Given the description of an element on the screen output the (x, y) to click on. 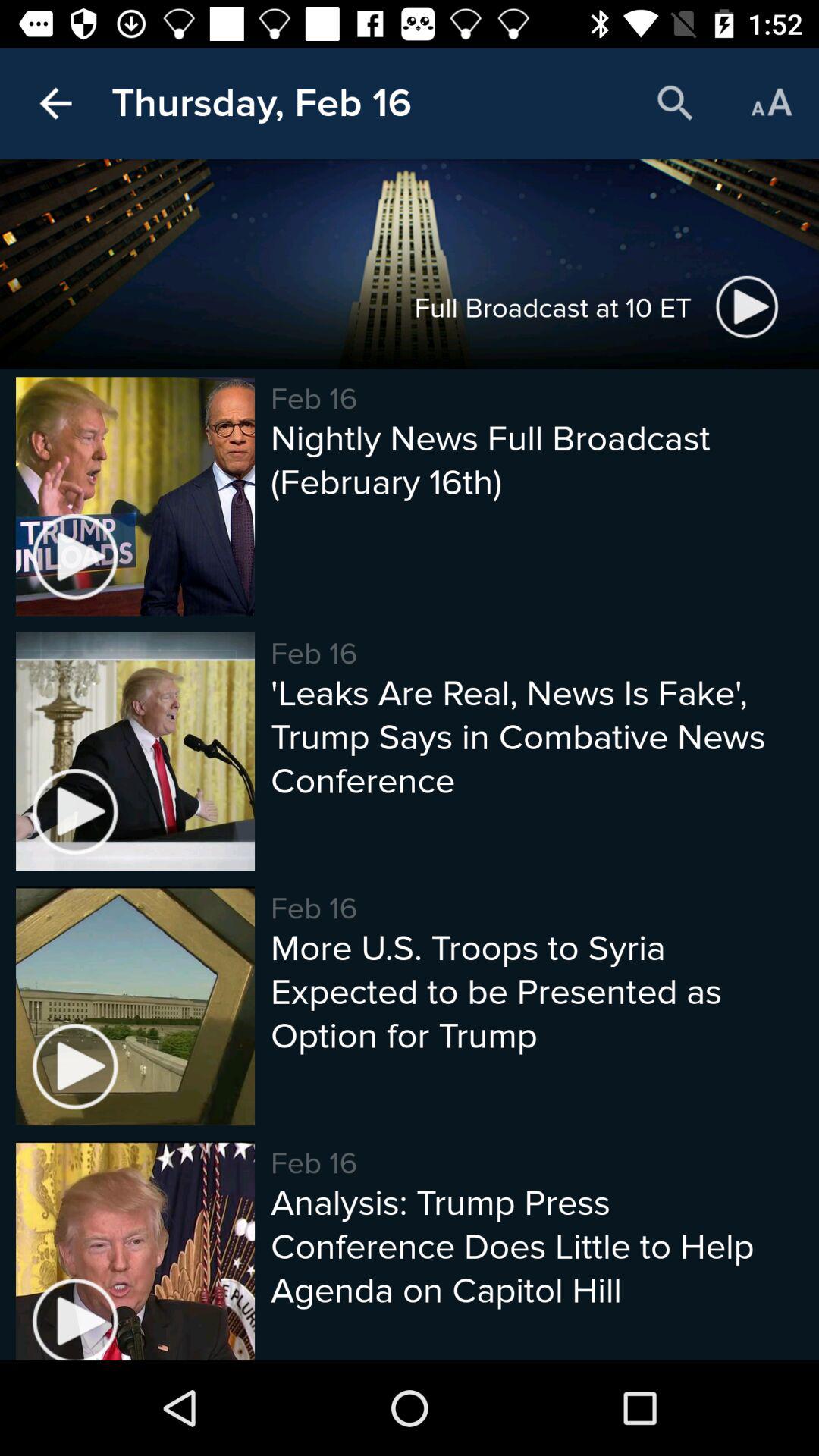
jump to the thursday, feb 16 (261, 103)
